Given the description of an element on the screen output the (x, y) to click on. 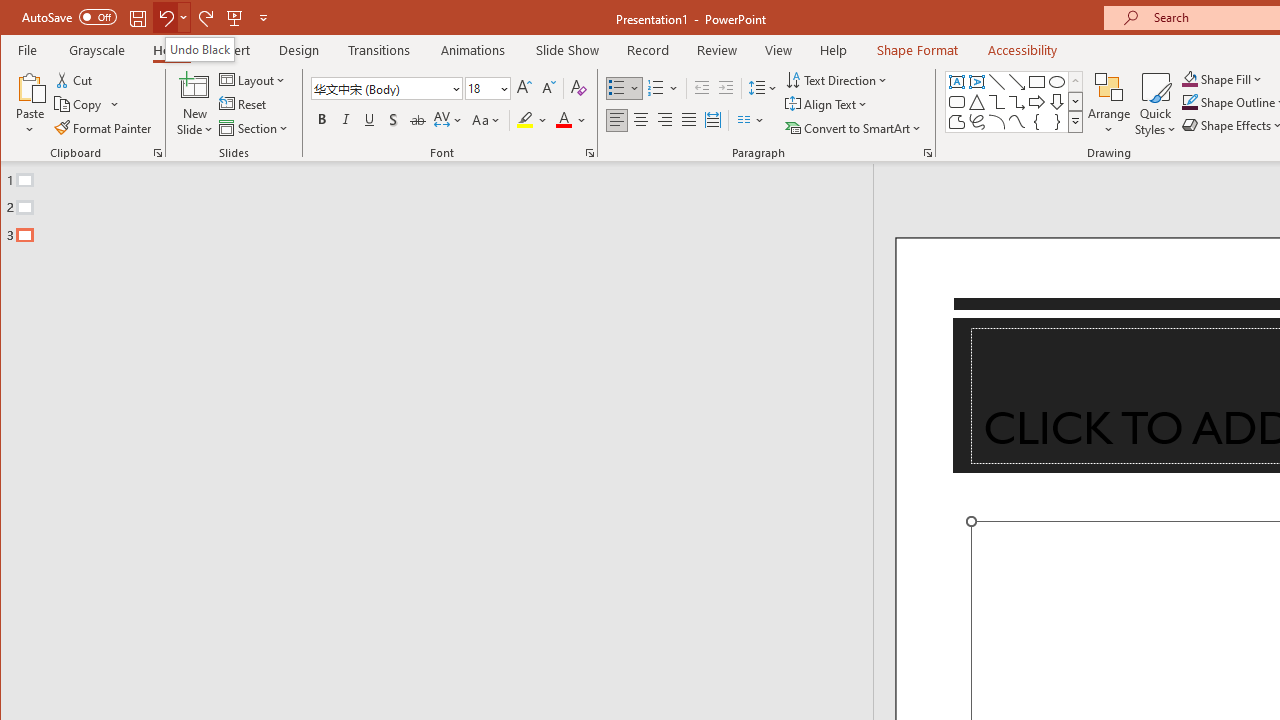
Section (255, 127)
Paste (29, 104)
Align Left (616, 119)
Convert to SmartArt (855, 127)
Arrow: Down (1057, 102)
Distributed (712, 119)
Line Arrow (1016, 82)
Shape Format (916, 50)
Font Size (487, 88)
Increase Font Size (524, 88)
Layout (253, 80)
Row up (1074, 81)
Text Direction (837, 80)
